Given the description of an element on the screen output the (x, y) to click on. 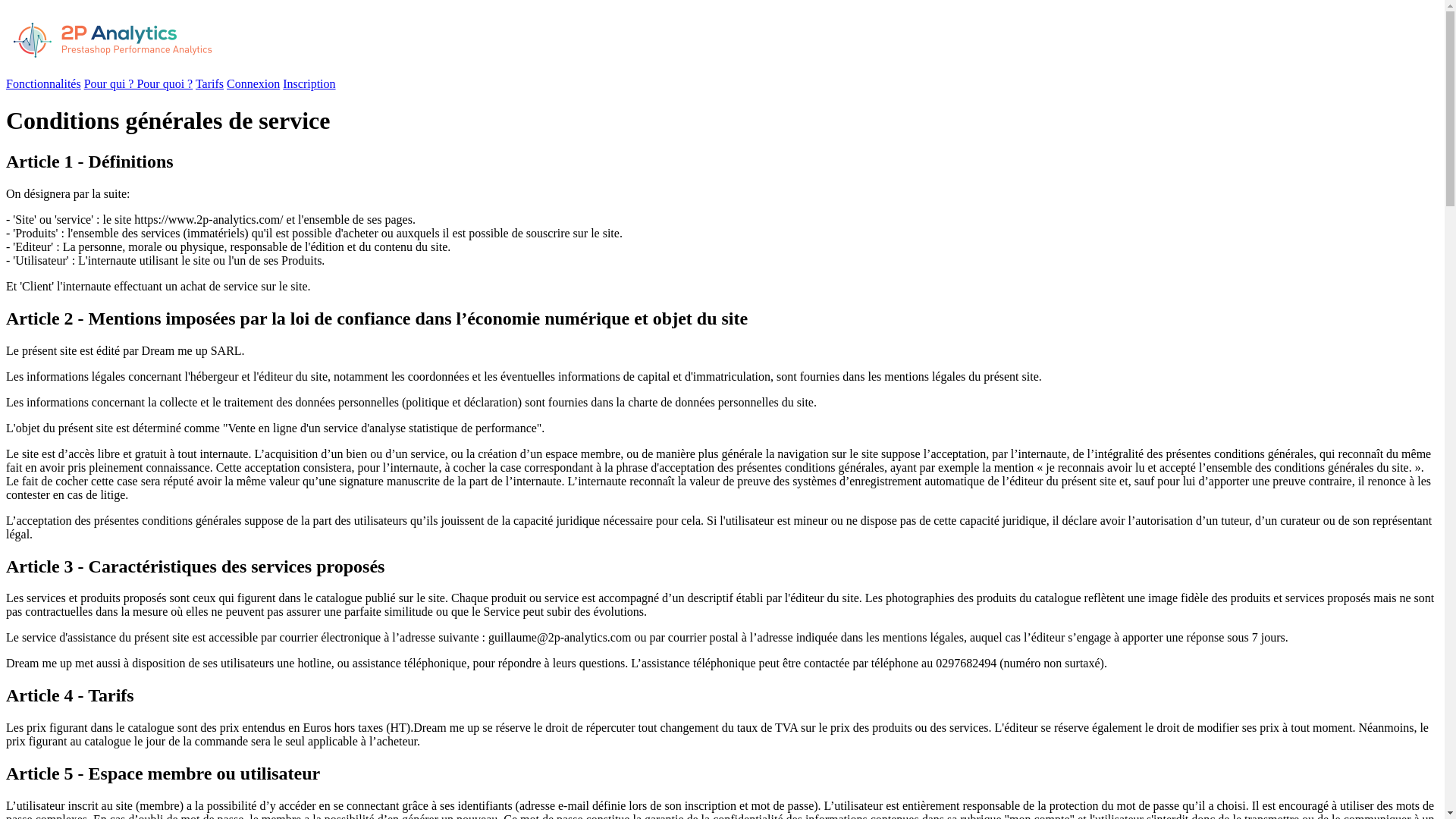
Pour qui ? Pour quoi ? Element type: text (138, 83)
Inscription Element type: text (308, 83)
Connexion Element type: text (252, 83)
Tarifs Element type: text (209, 83)
